Given the description of an element on the screen output the (x, y) to click on. 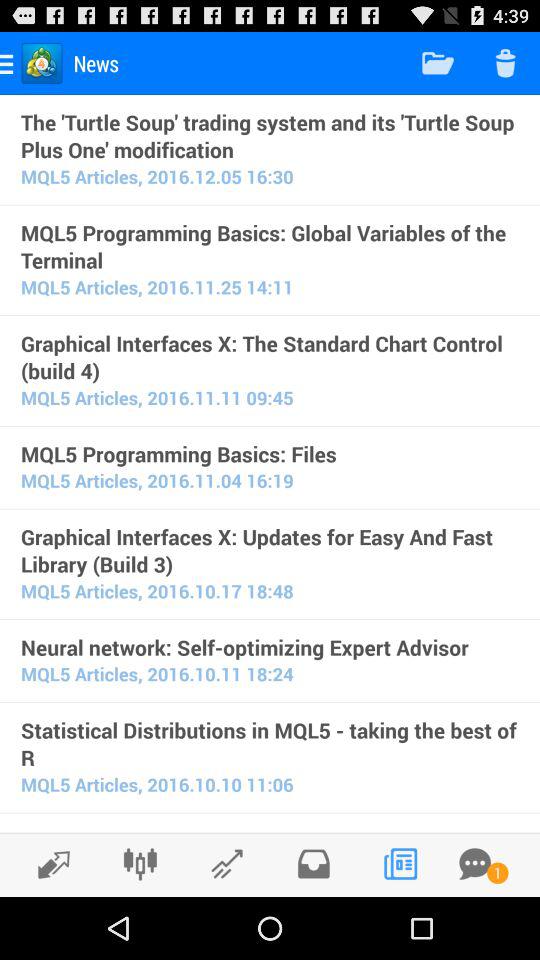
go back (48, 864)
